Given the description of an element on the screen output the (x, y) to click on. 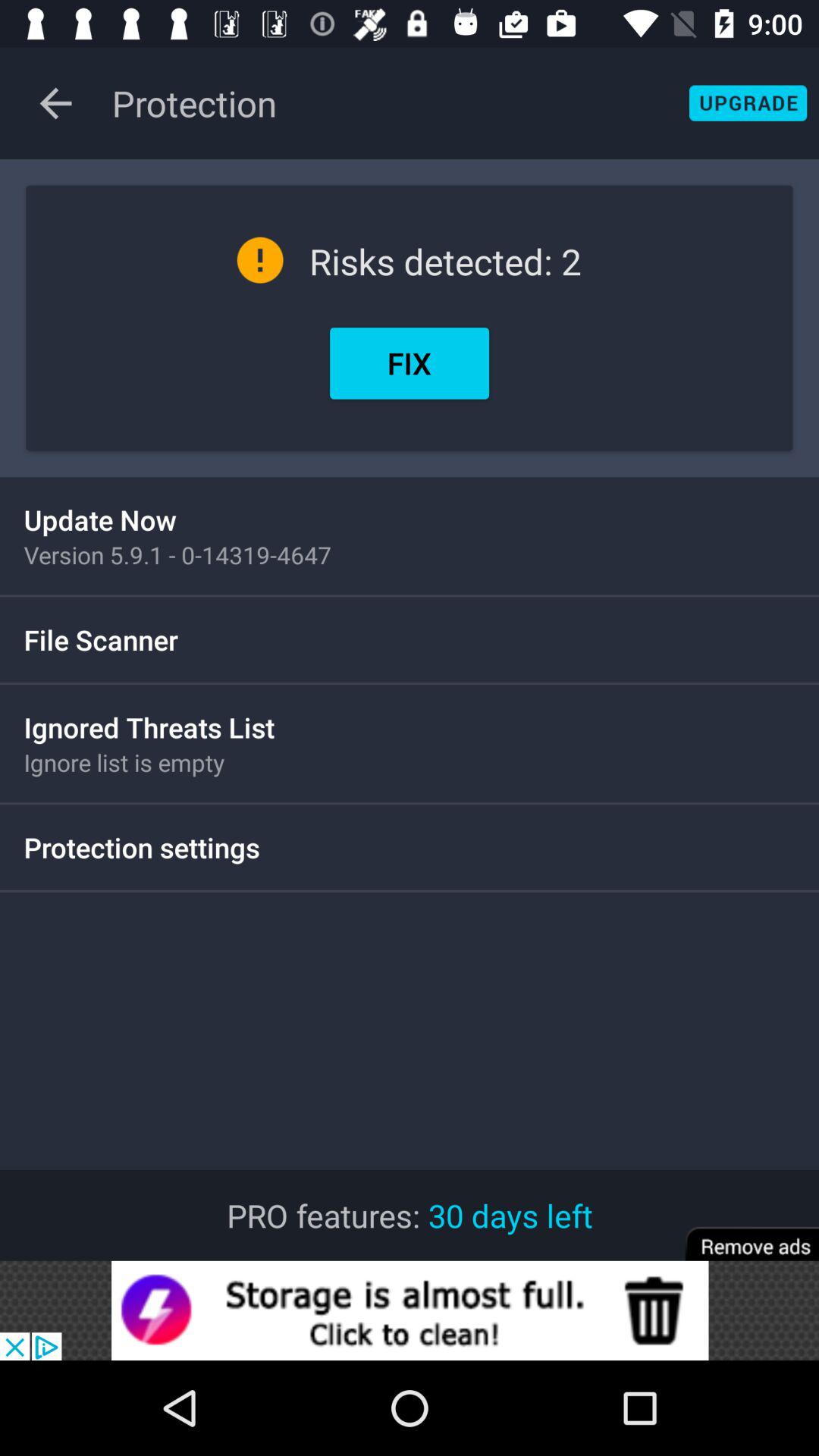
select remove advertisements (742, 1233)
